Given the description of an element on the screen output the (x, y) to click on. 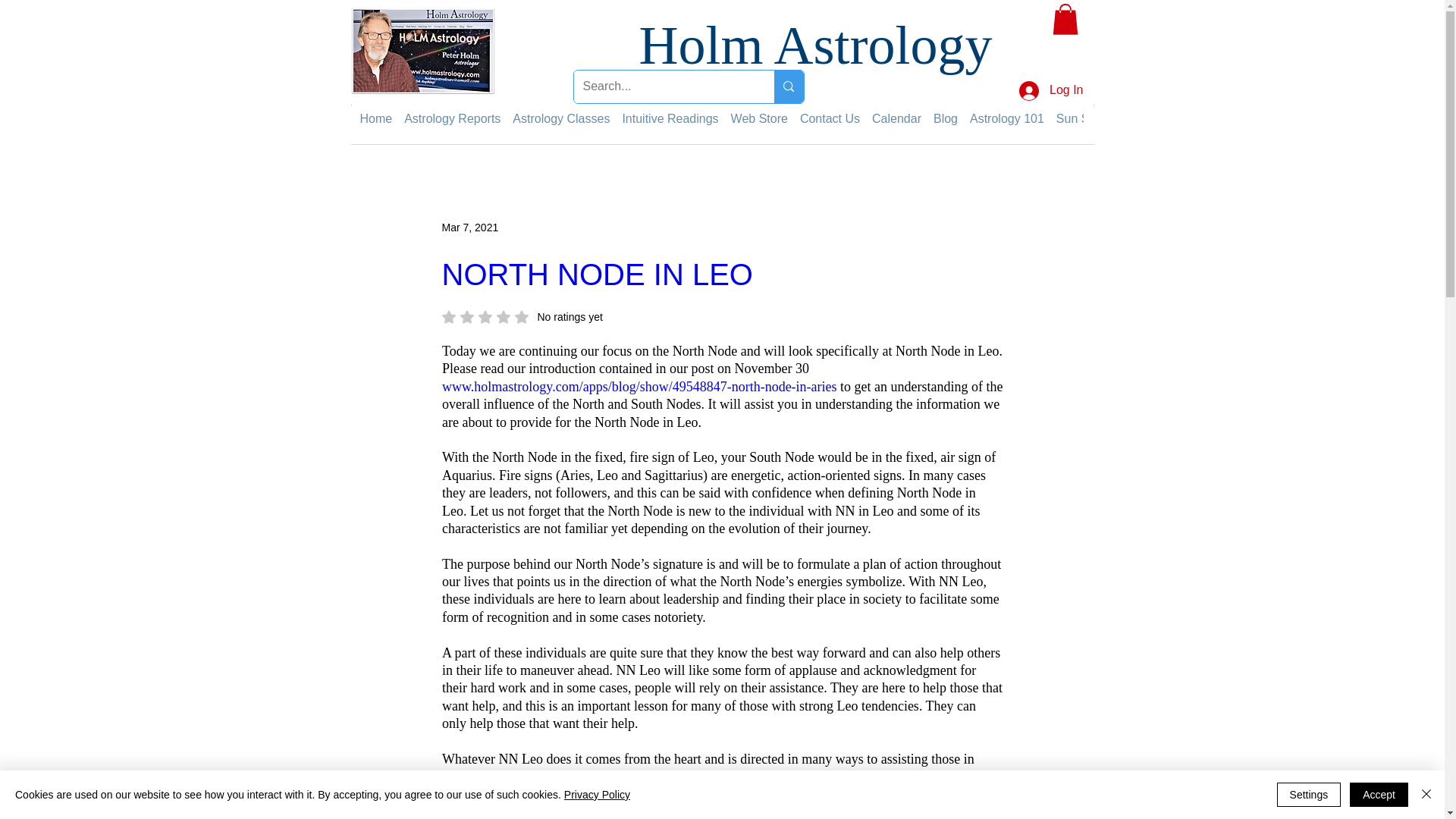
Calendar (896, 118)
Log In (1051, 90)
Contact Us (829, 118)
Blog (945, 118)
The Planets (1156, 118)
Sun Signs (1084, 118)
Astrology Reports (452, 118)
Intuitive Readings (669, 118)
Web Store (758, 118)
